Given the description of an element on the screen output the (x, y) to click on. 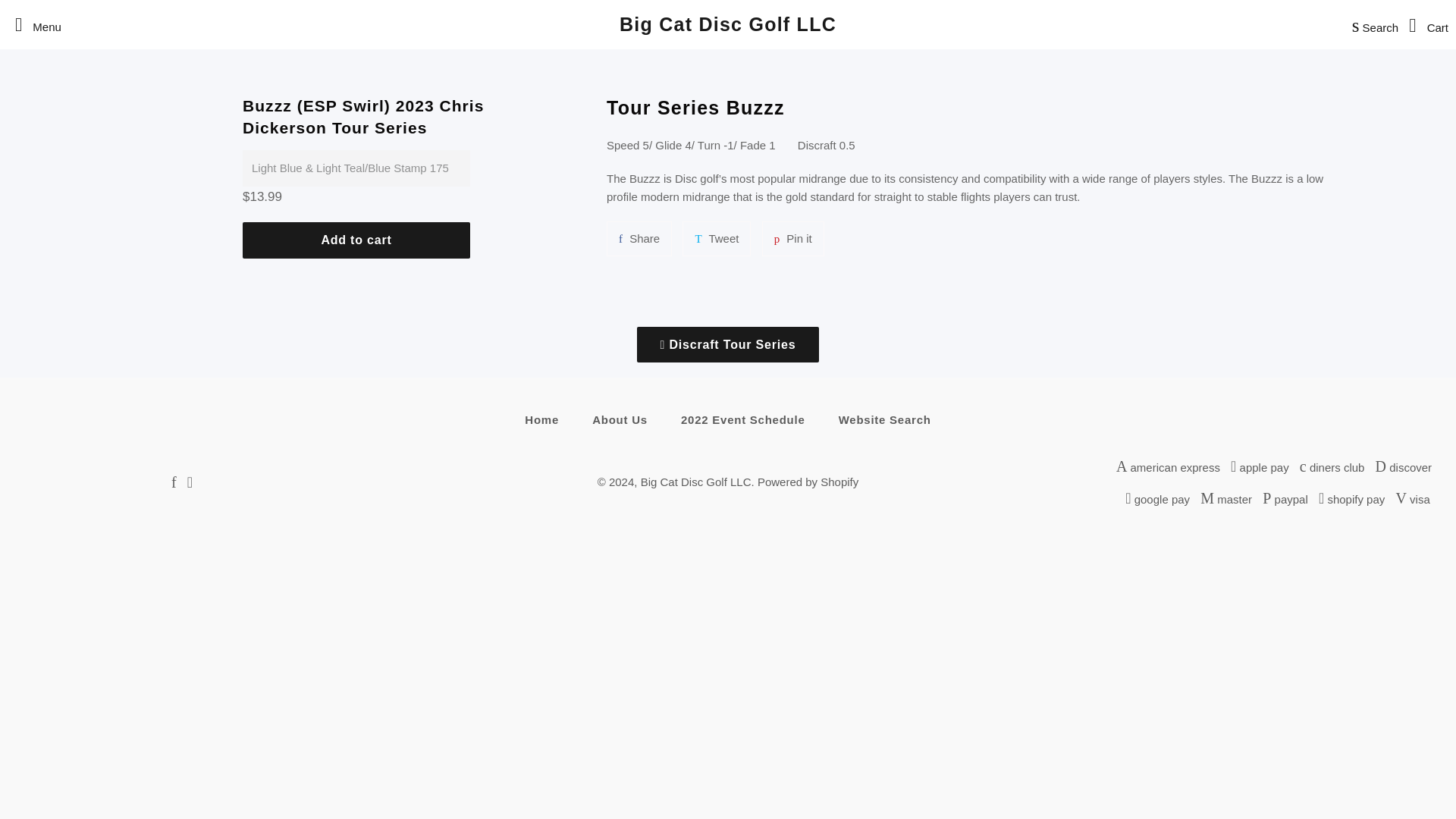
Pin on Pinterest (792, 238)
Share on Facebook (639, 238)
Tweet on Twitter (716, 238)
